Given the description of an element on the screen output the (x, y) to click on. 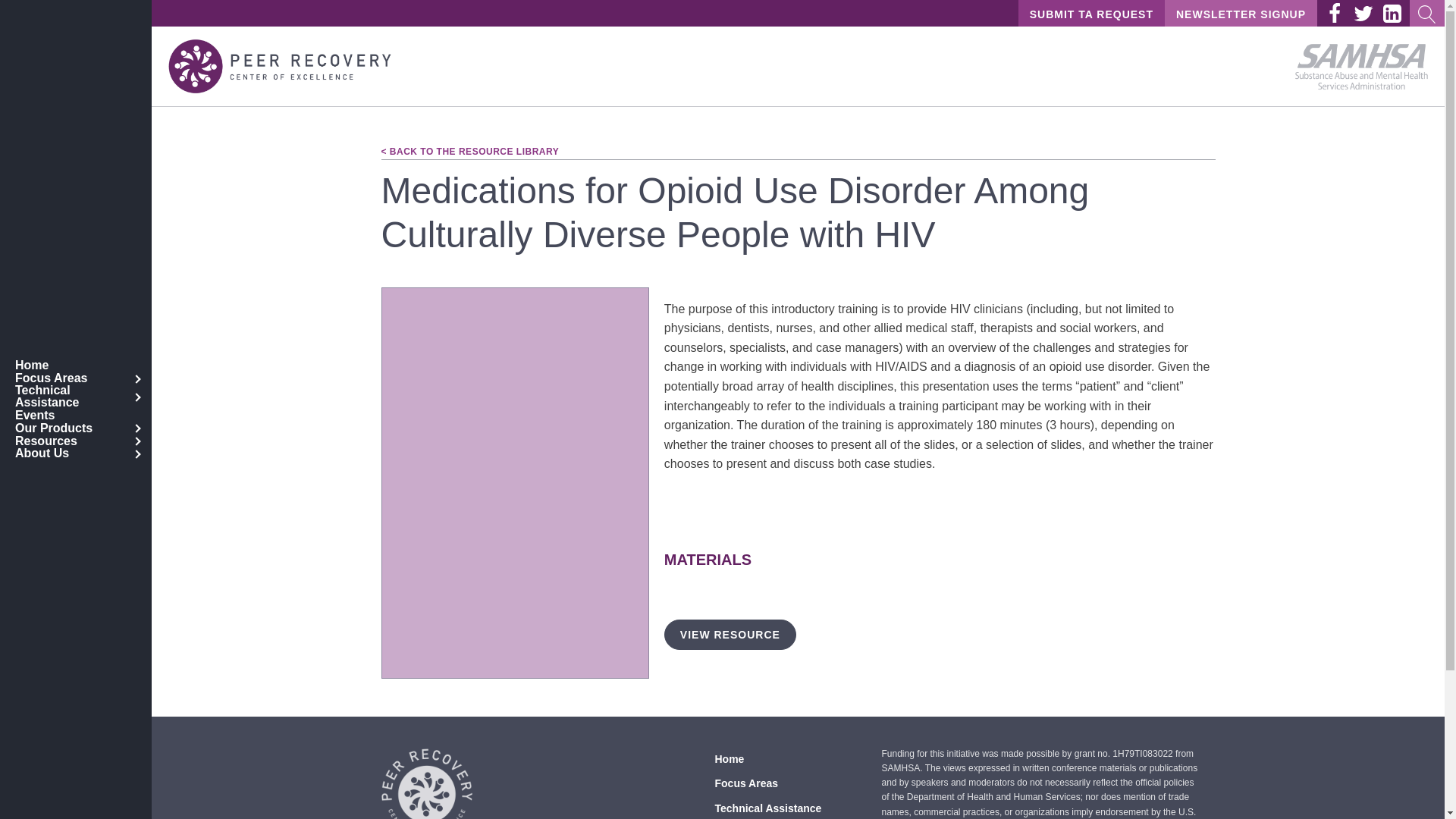
Search (34, 12)
NEWSLETTER SIGNUP (1240, 13)
About Us (75, 453)
Resources (75, 440)
Our Products (75, 427)
Technical Assistance (75, 396)
SUBMIT TA REQUEST (1090, 13)
Events (75, 414)
Home (75, 365)
Focus Areas (75, 377)
